Given the description of an element on the screen output the (x, y) to click on. 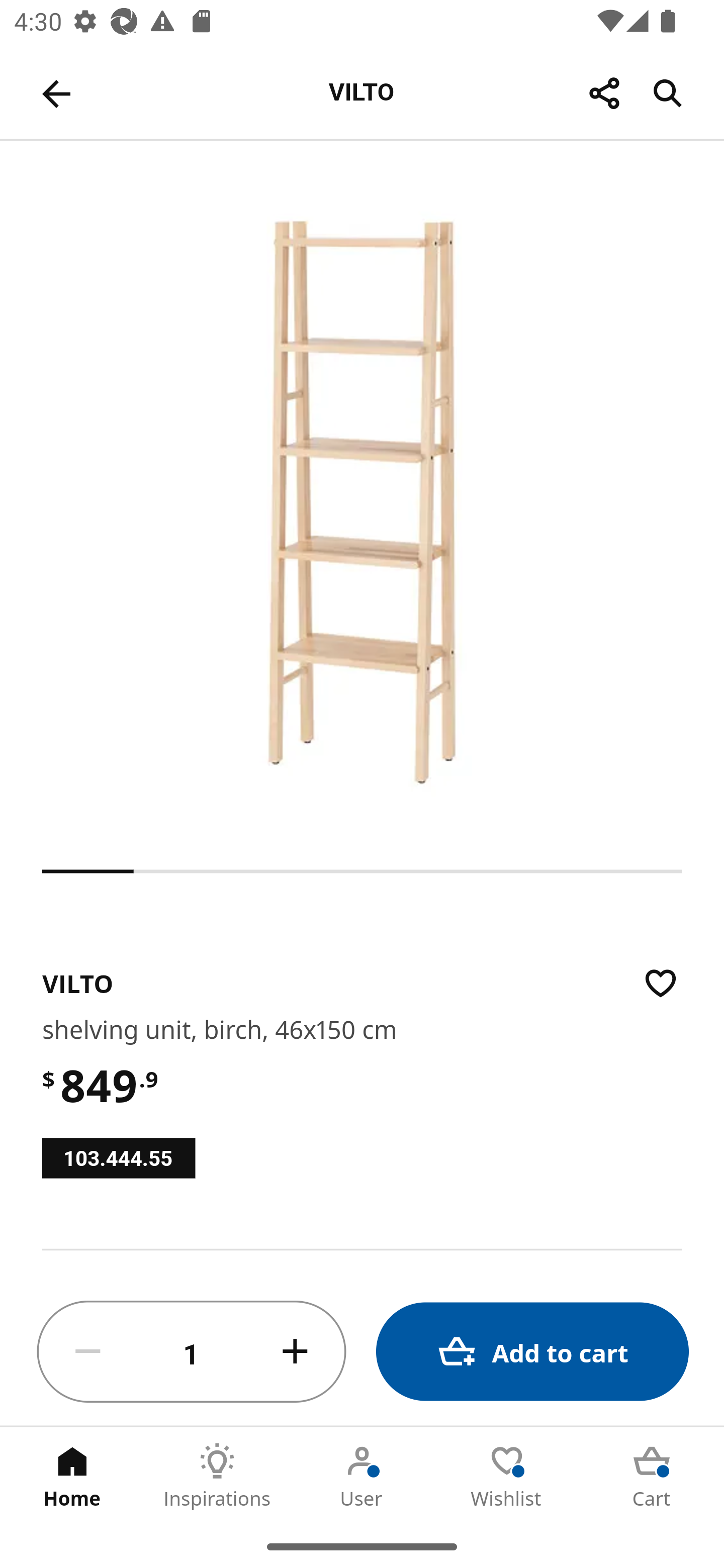
Add to cart (531, 1352)
1 (191, 1352)
Home
Tab 1 of 5 (72, 1476)
Inspirations
Tab 2 of 5 (216, 1476)
User
Tab 3 of 5 (361, 1476)
Wishlist
Tab 4 of 5 (506, 1476)
Cart
Tab 5 of 5 (651, 1476)
